Given the description of an element on the screen output the (x, y) to click on. 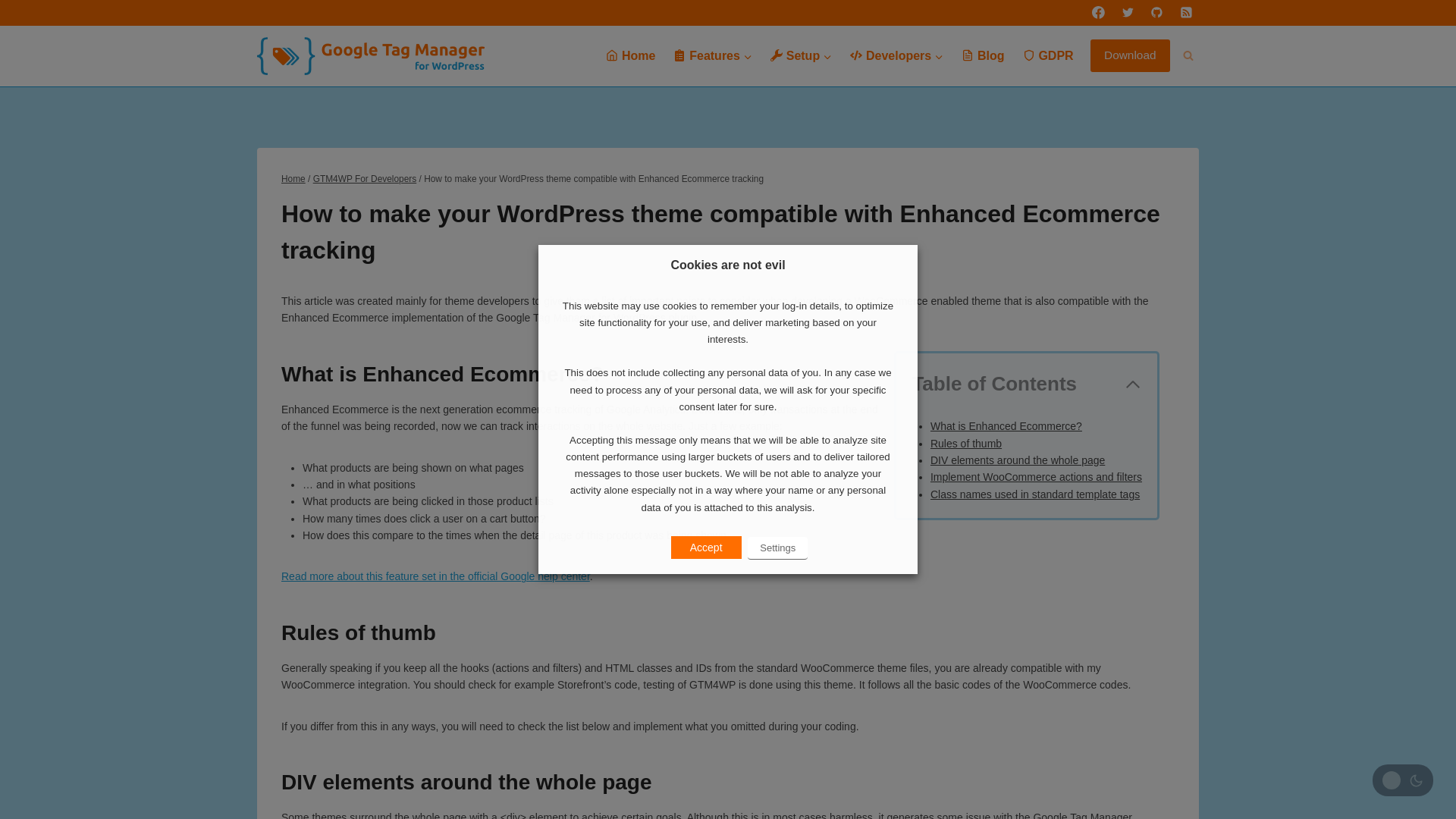
Home (293, 178)
Home (629, 55)
Download (1130, 55)
Setup (801, 55)
GTM4WP For Developers (364, 178)
GDPR (1048, 55)
Developers (896, 55)
Features (712, 55)
Blog (982, 55)
